Given the description of an element on the screen output the (x, y) to click on. 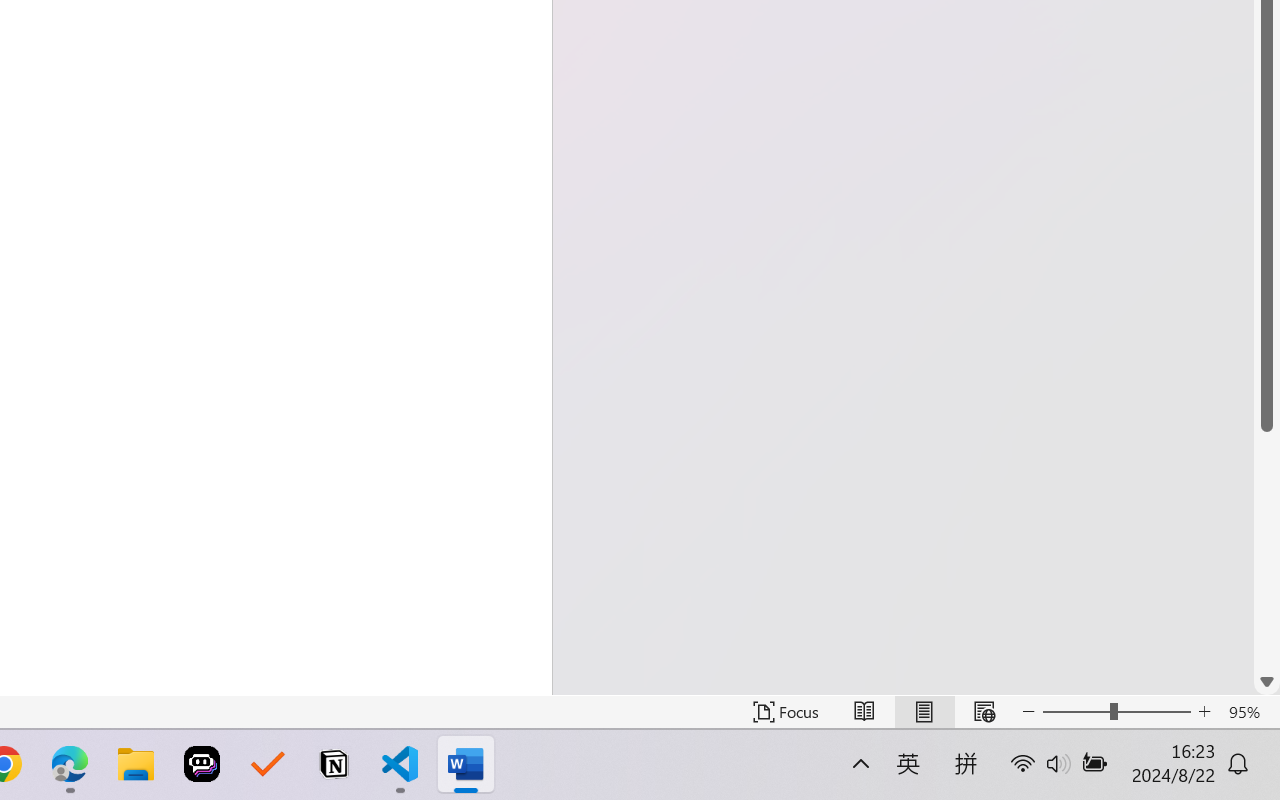
Zoom 95% (1249, 712)
Line down (1267, 681)
Page down (1267, 550)
